Given the description of an element on the screen output the (x, y) to click on. 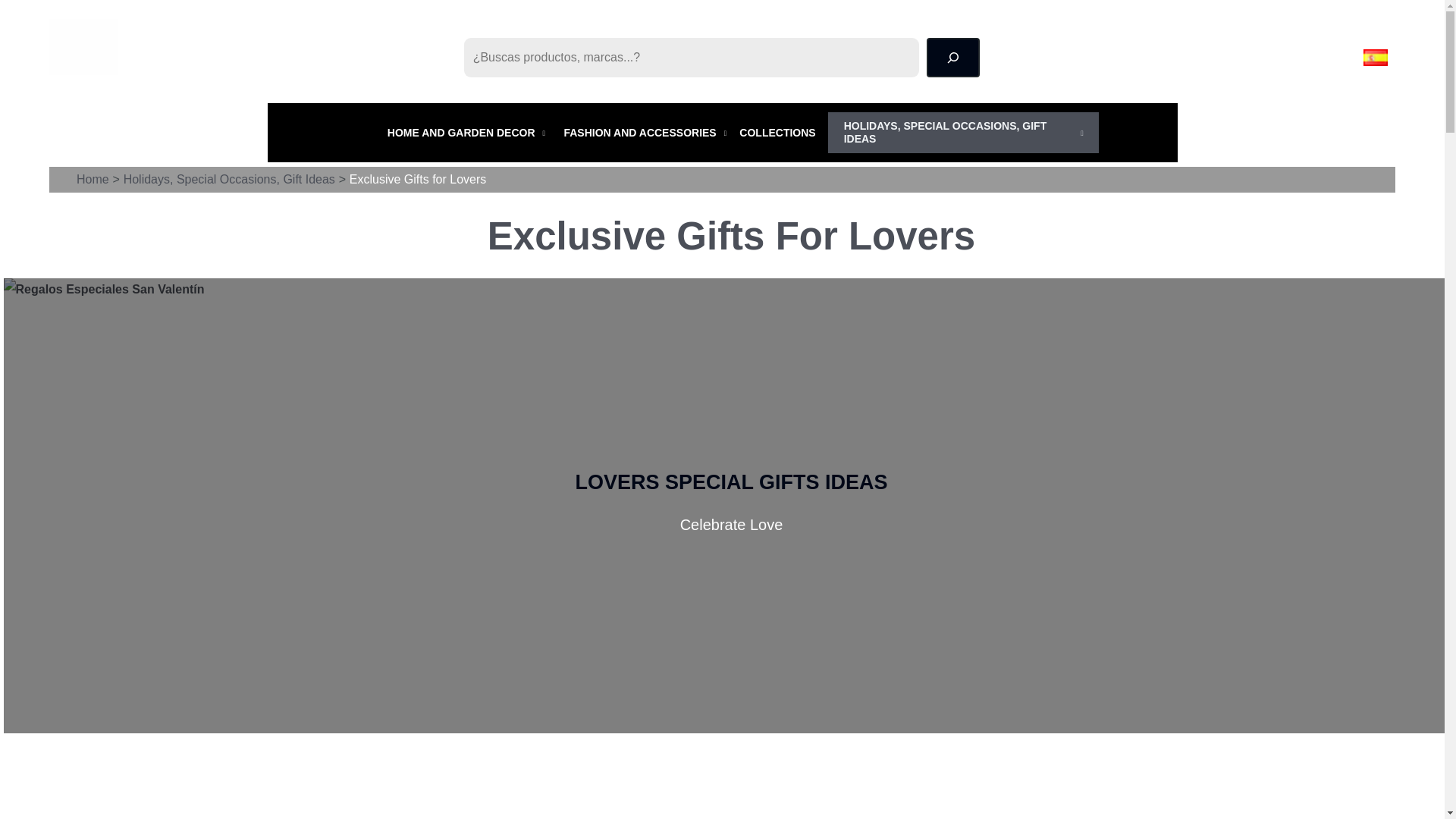
Home (93, 178)
COLLECTIONS (782, 132)
HOLIDAYS, SPECIAL OCCASIONS, GIFT IDEAS (963, 132)
HOME AND GARDEN DECOR (469, 132)
FASHION AND ACCESSORIES (647, 132)
Holidays, Special Occasions, Gift Ideas (228, 178)
